Given the description of an element on the screen output the (x, y) to click on. 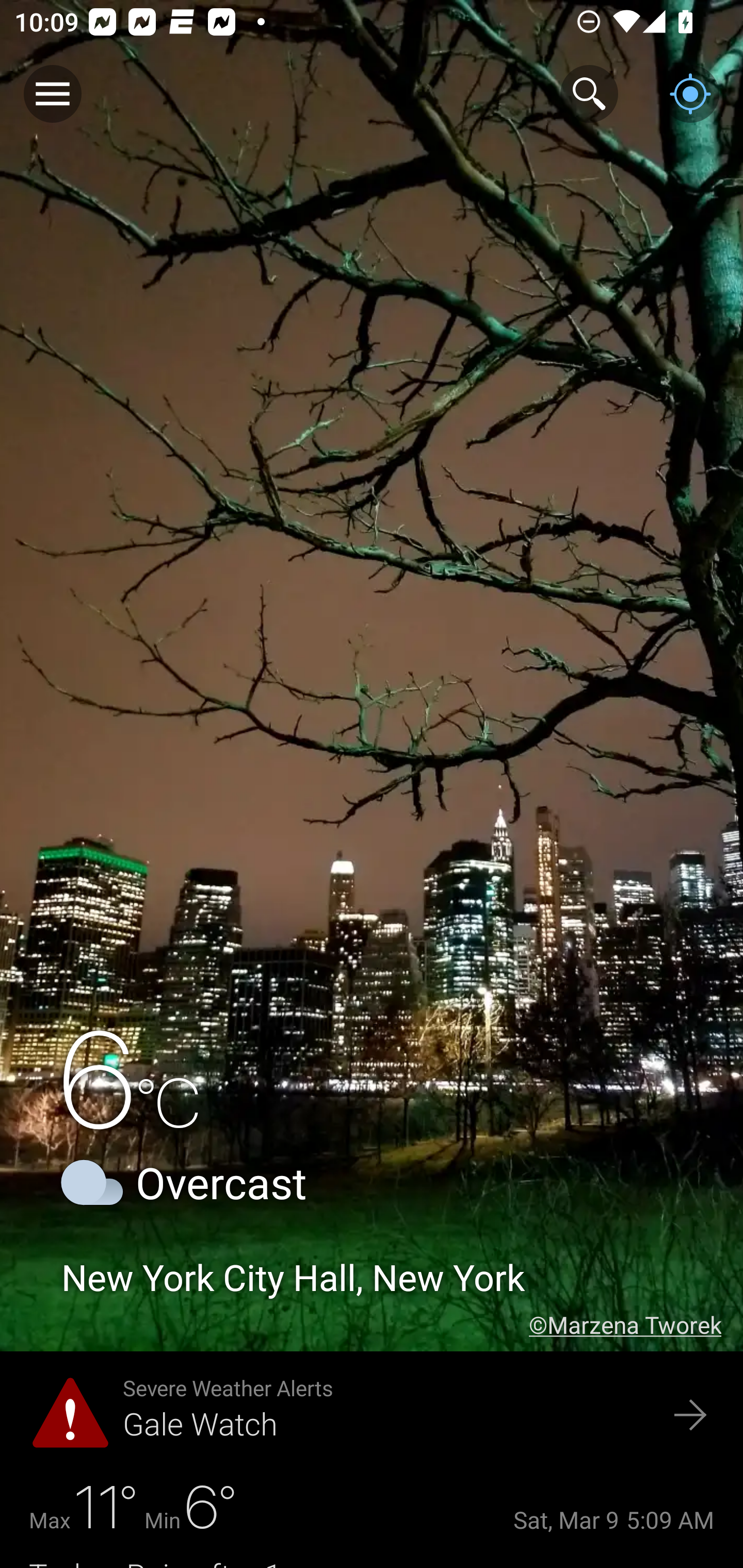
©Marzena Tworek (635, 1324)
Severe Weather Alerts Gale Watch  (371, 1416)
